Given the description of an element on the screen output the (x, y) to click on. 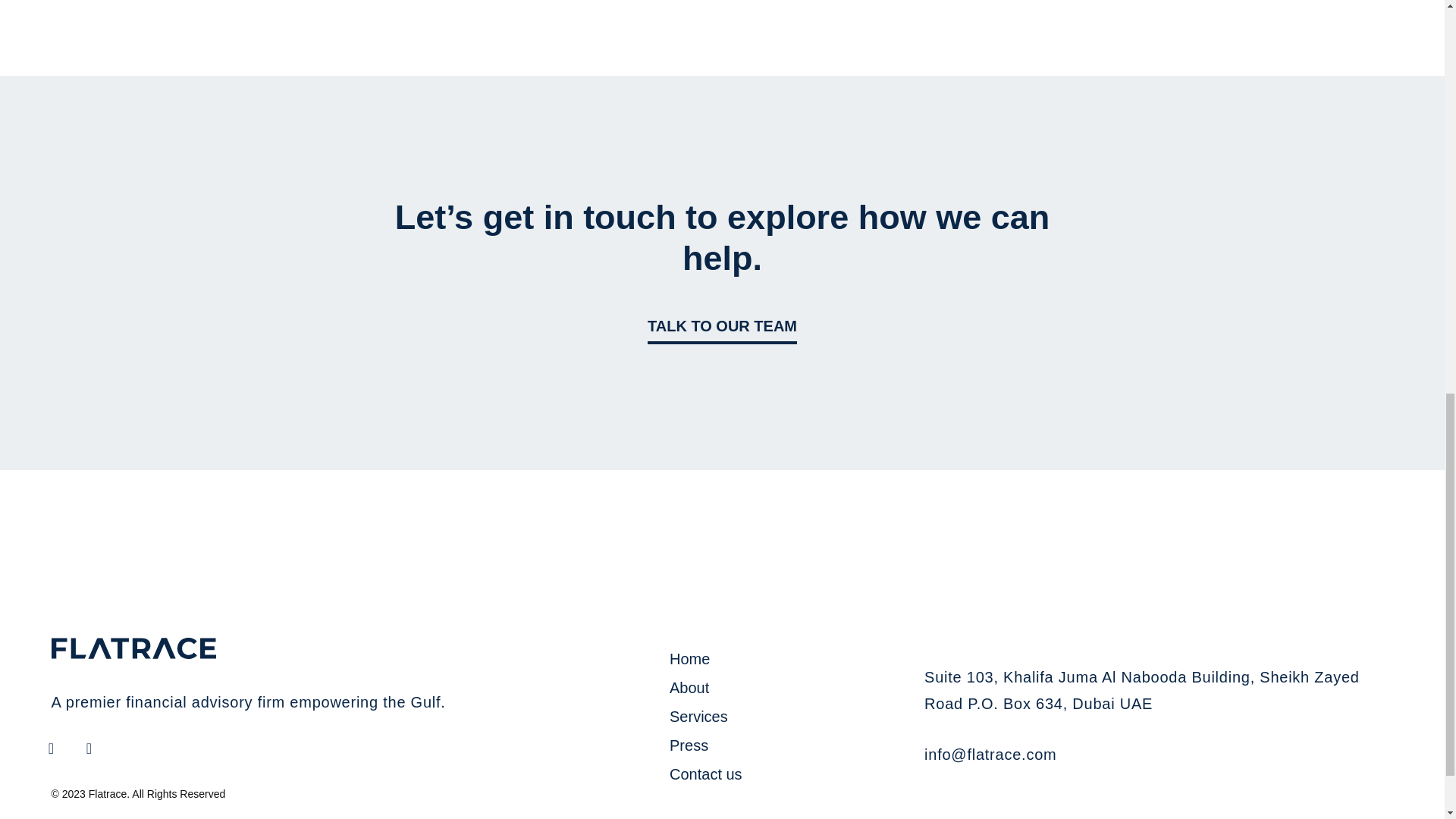
Home (788, 658)
Contact us (788, 774)
Press (788, 745)
Services (788, 716)
About (788, 687)
TALK TO OUR TEAM (721, 325)
